Given the description of an element on the screen output the (x, y) to click on. 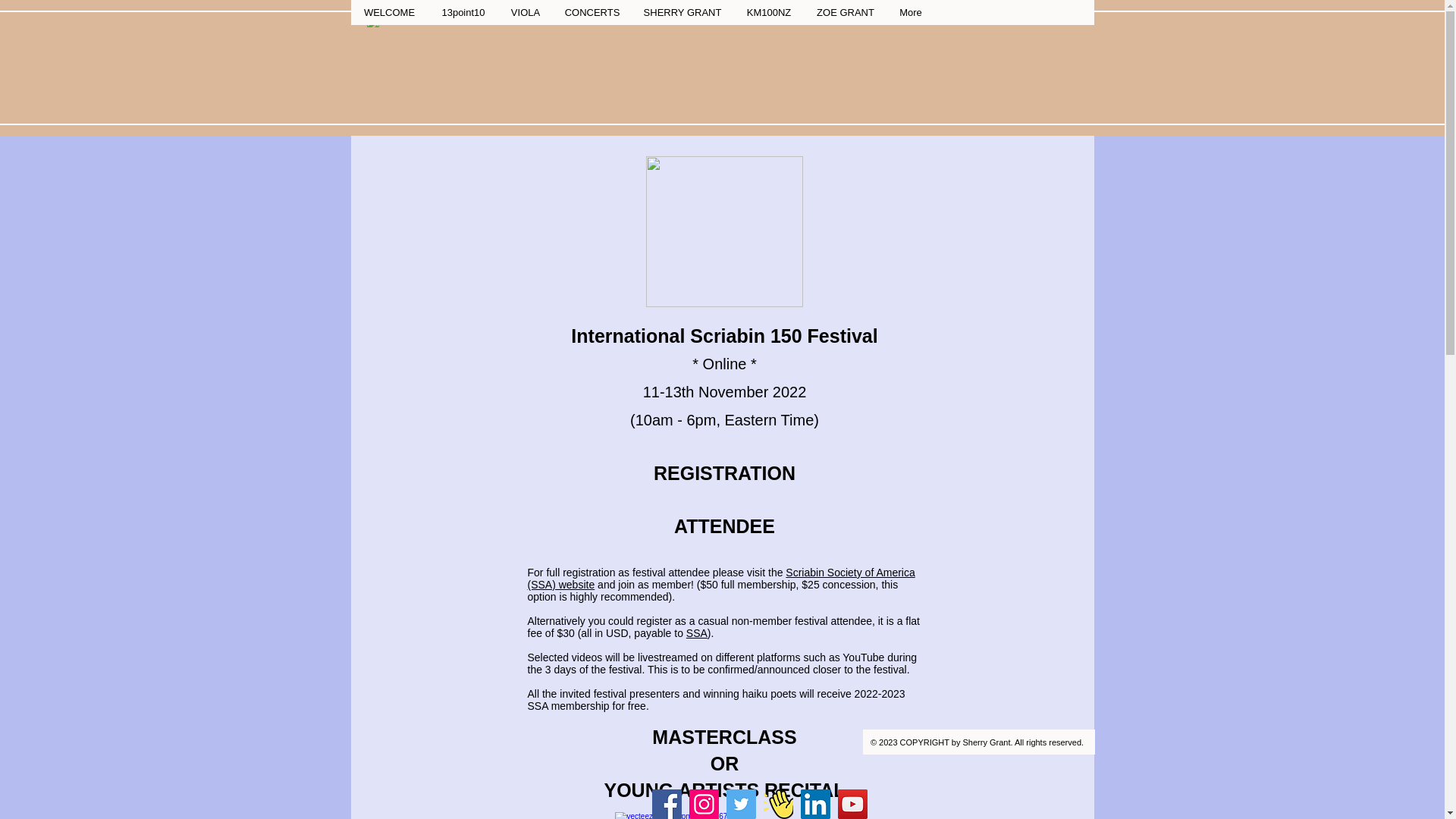
CONCERTS (590, 12)
13point10 (462, 12)
WELCOME (389, 12)
ZOE GRANT (844, 12)
SHERRY GRANT (681, 12)
VIOLA (524, 12)
KM100NZ (767, 12)
